Given the description of an element on the screen output the (x, y) to click on. 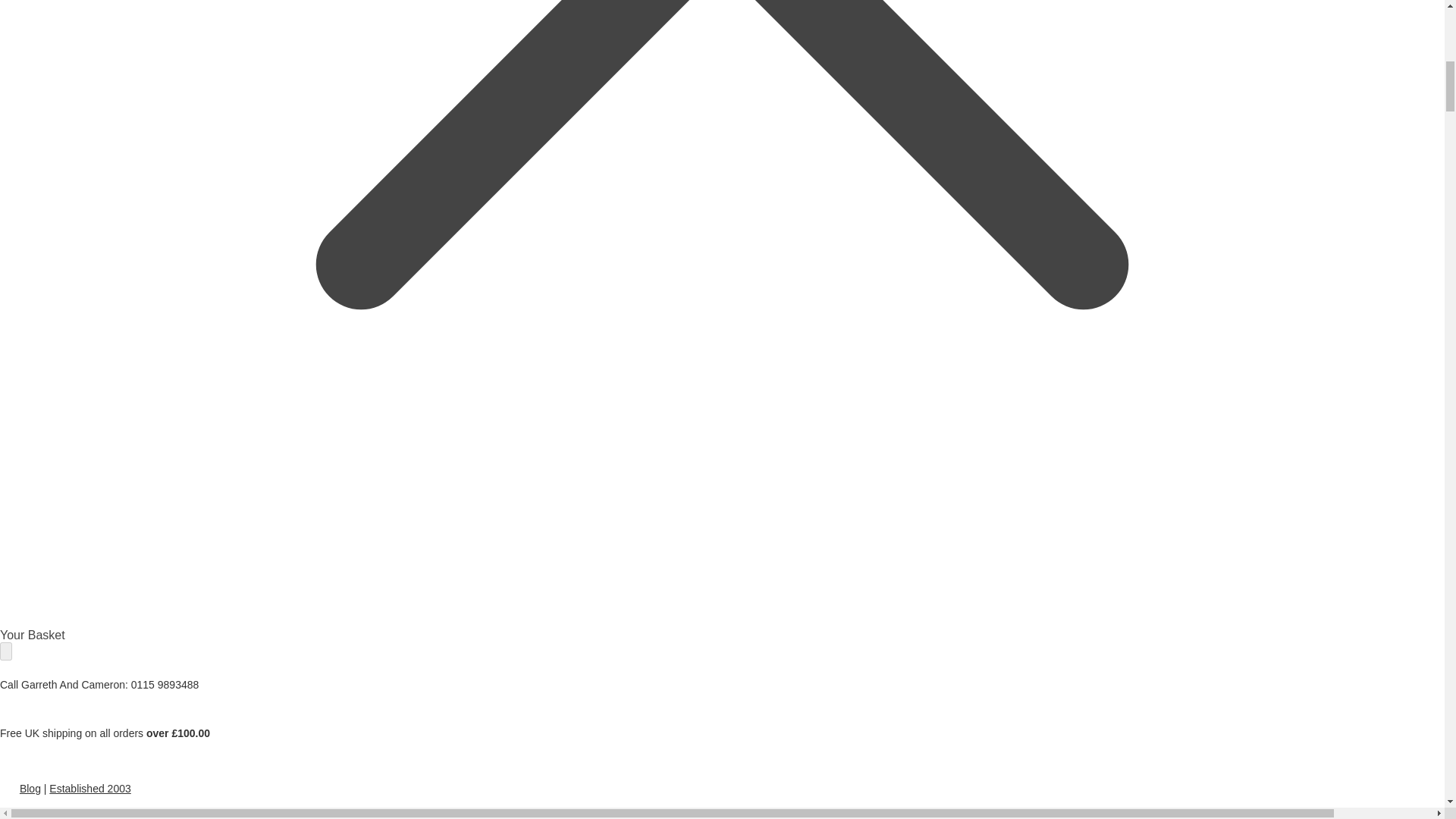
Established 2003 (90, 788)
Blog (30, 788)
